Given the description of an element on the screen output the (x, y) to click on. 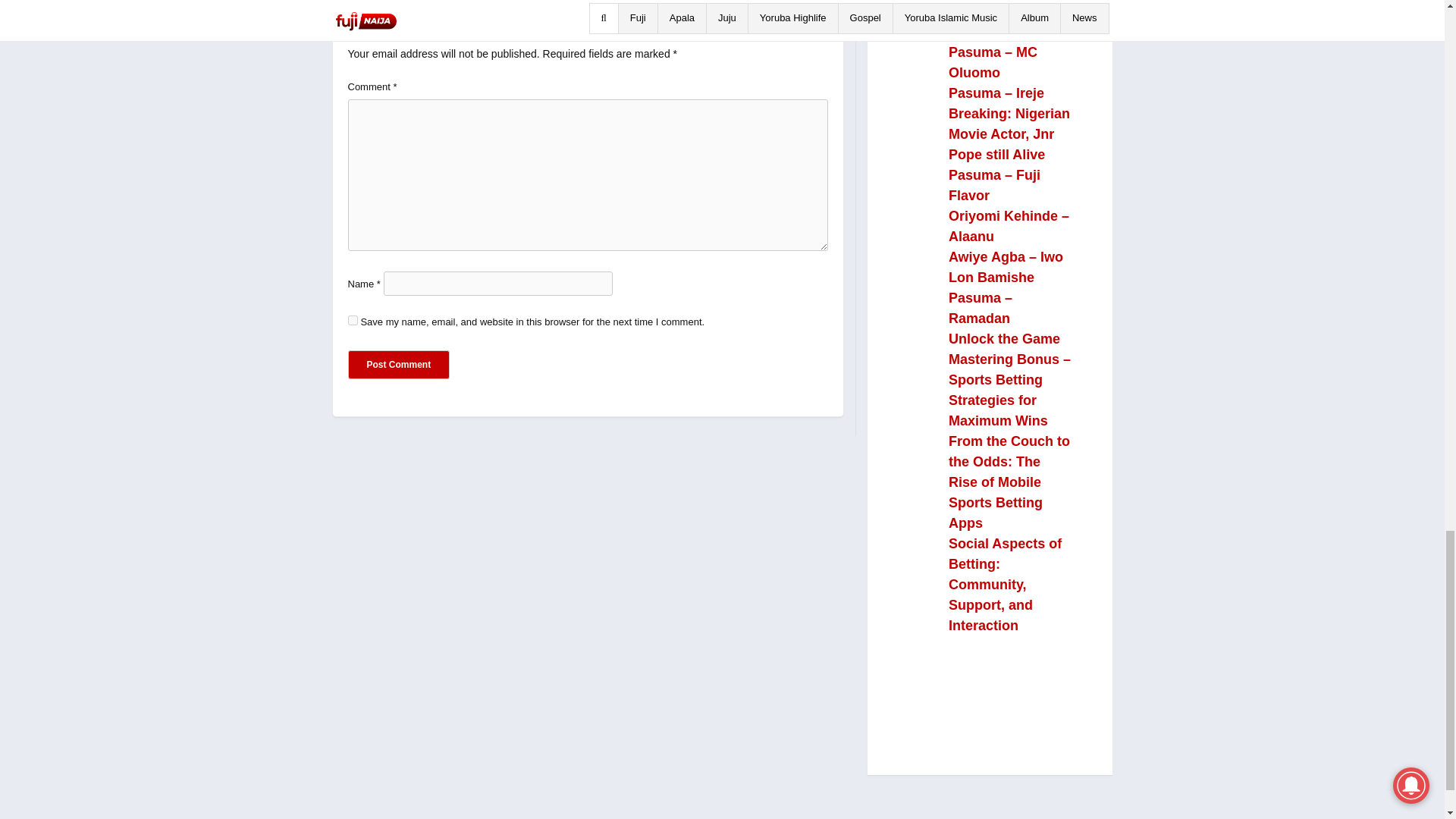
yes (351, 320)
Post Comment (398, 364)
